Given the description of an element on the screen output the (x, y) to click on. 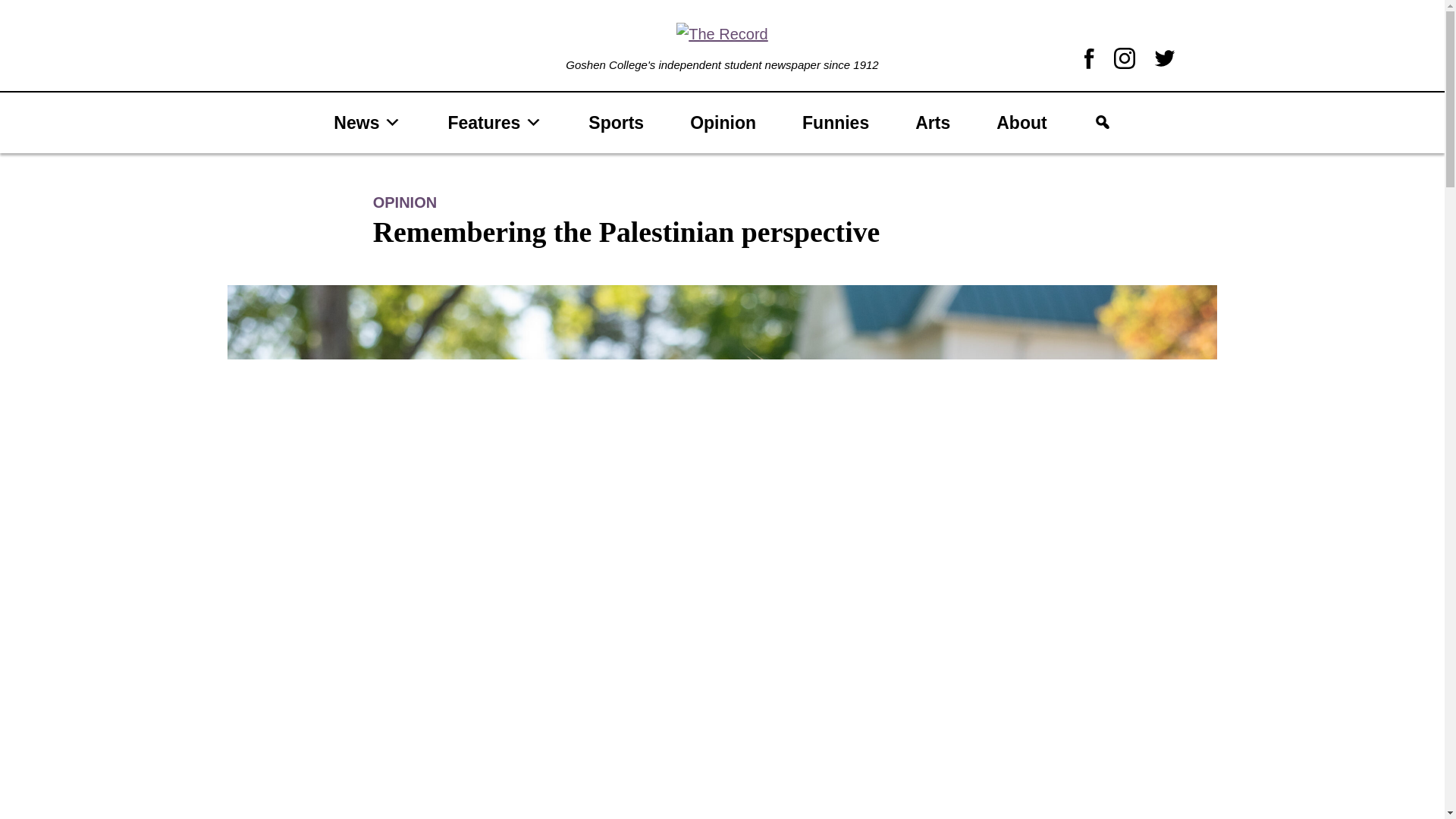
Sports (616, 122)
About (1021, 122)
Funnies (834, 122)
Opinion (722, 122)
News (367, 122)
Arts (932, 122)
Features (494, 122)
